Given the description of an element on the screen output the (x, y) to click on. 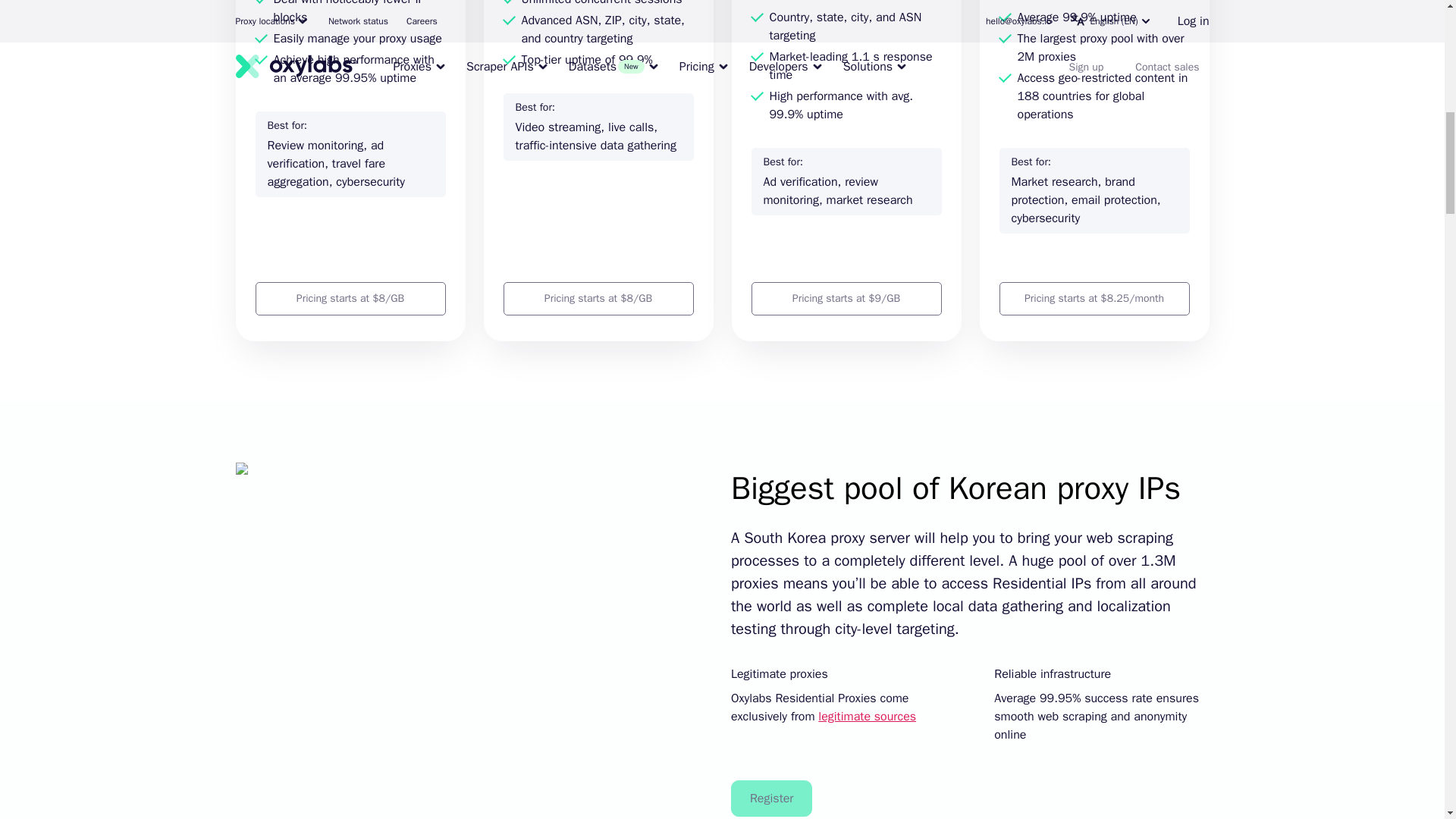
legitimate sources (866, 716)
Register (771, 798)
